Given the description of an element on the screen output the (x, y) to click on. 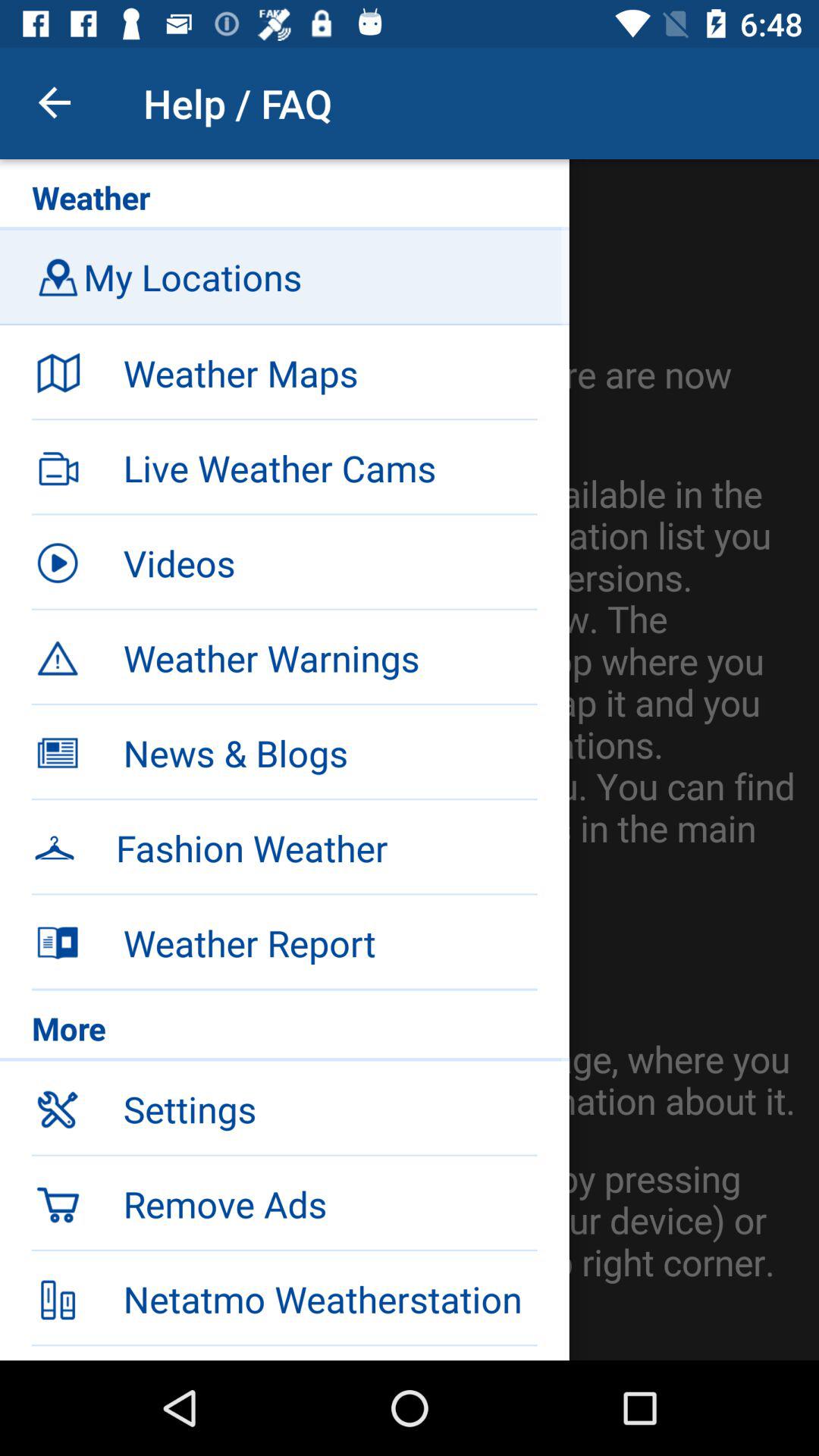
turn off the item below the netatmo weatherstation icon (330, 1353)
